Given the description of an element on the screen output the (x, y) to click on. 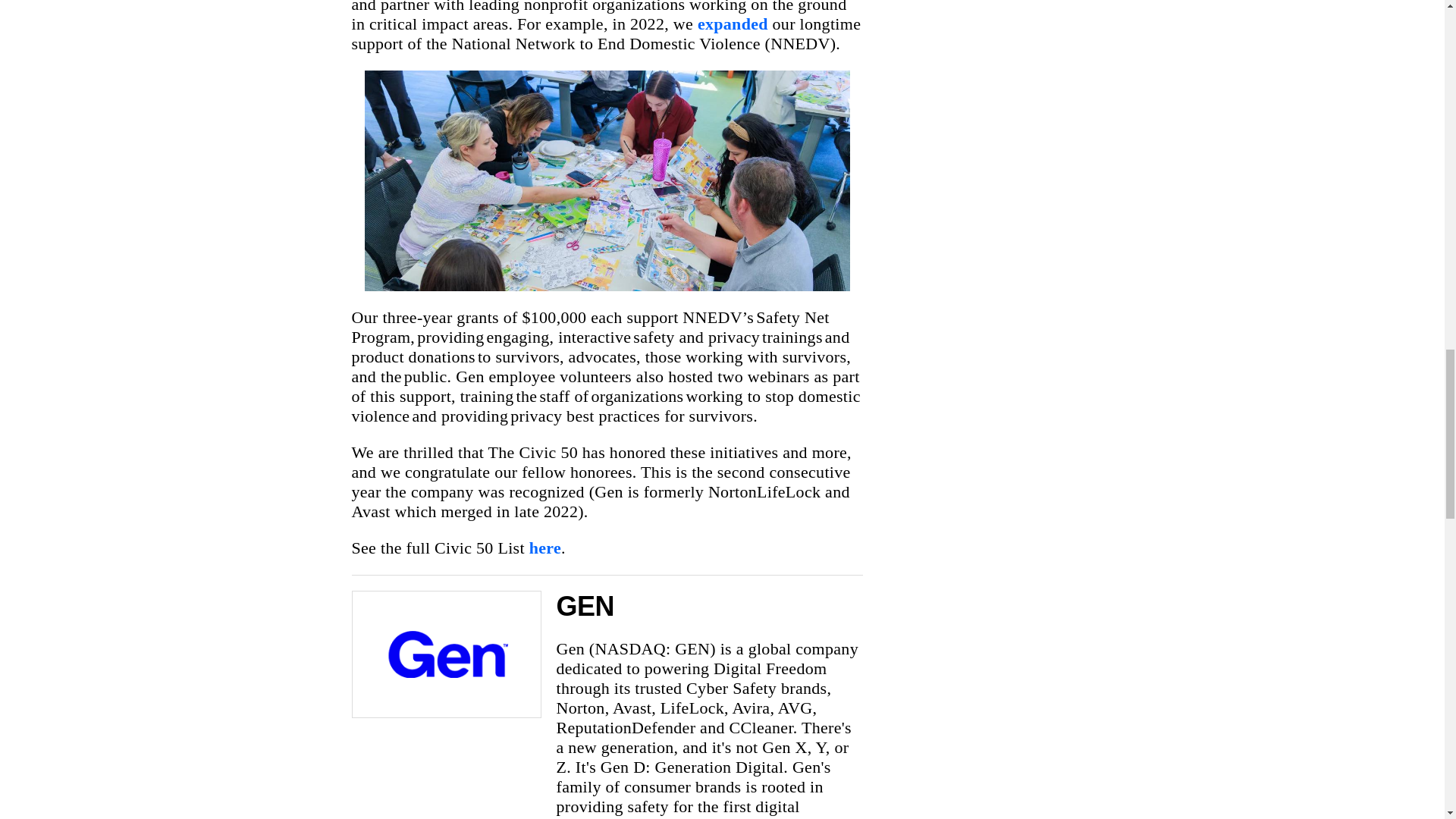
here (544, 547)
expanded (732, 23)
